Given the description of an element on the screen output the (x, y) to click on. 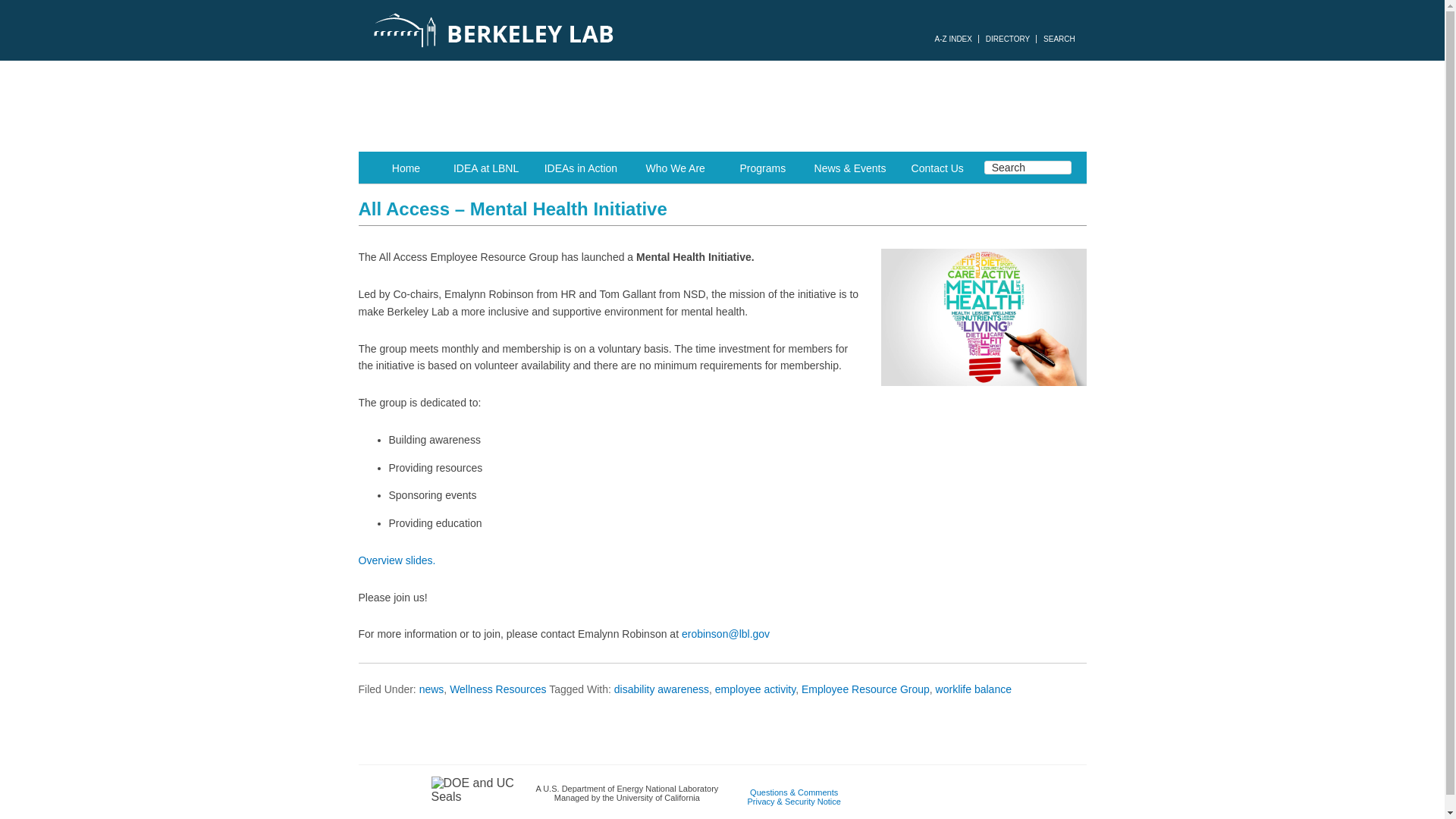
Berkeley Lab (562, 30)
IDEAs in Action (580, 167)
 Search (1027, 167)
Who We Are (675, 167)
Programs (762, 167)
SEARCH (1059, 39)
 Search (1027, 167)
IDEA at LBNL (485, 167)
A-Z INDEX (952, 39)
Inclusion, Diversity, Equity and Accountability (722, 105)
DIRECTORY (1007, 39)
Home (405, 167)
Berkeley Lab (562, 30)
